Given the description of an element on the screen output the (x, y) to click on. 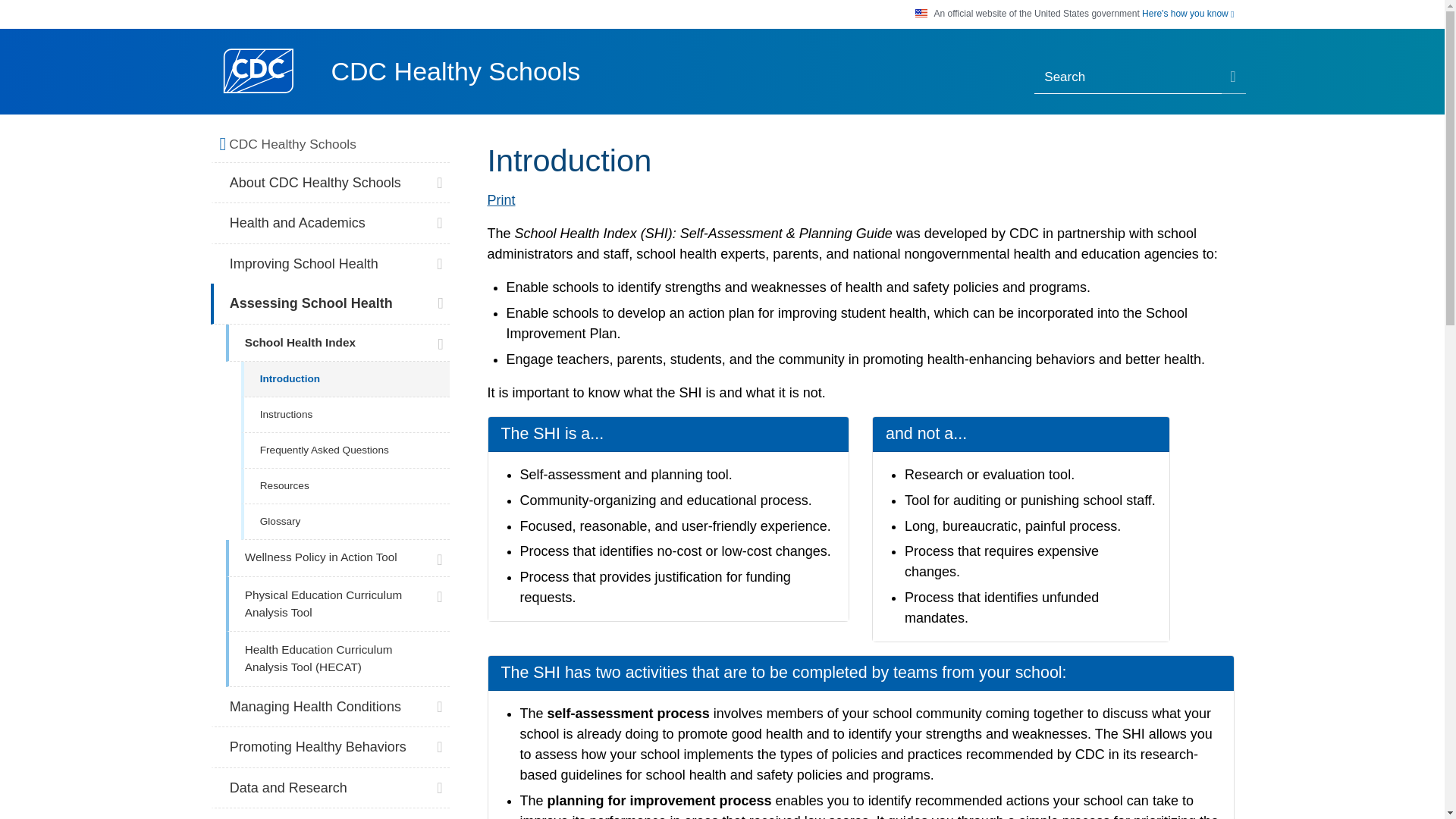
CDC Healthy Schools (454, 71)
Here's how you know (1187, 14)
